Given the description of an element on the screen output the (x, y) to click on. 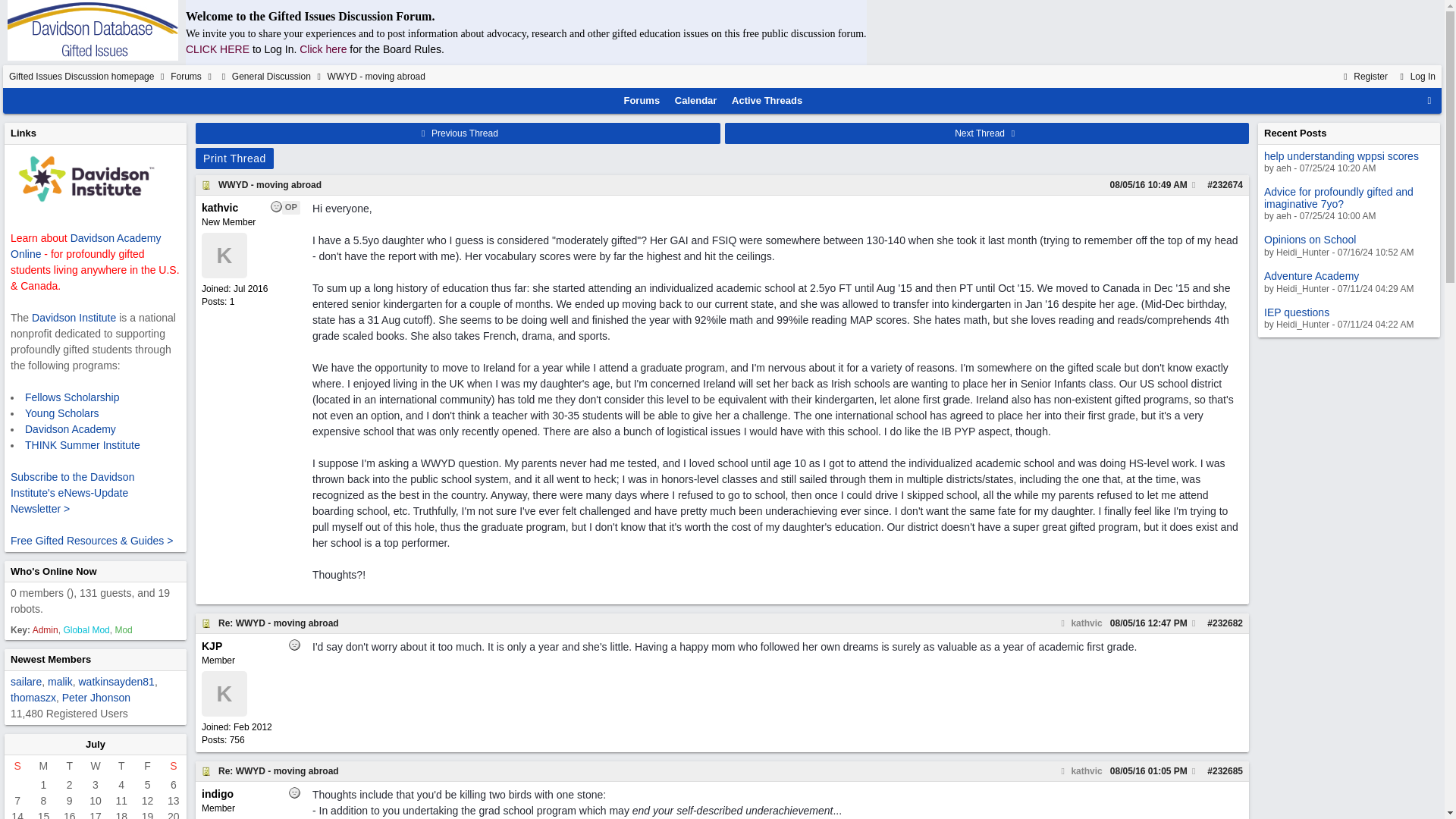
General Discussion (271, 76)
Forums (641, 100)
Davidson Institute (74, 317)
WWYD - moving abroad (269, 184)
CLICK HERE (217, 49)
Young Scholars (61, 413)
232674 (1227, 184)
sailare (26, 681)
Forums (186, 76)
watkinsayden81 (116, 681)
Gifted Issues Discussion homepage (81, 76)
Register (1363, 76)
Davidson Academy (70, 428)
malik (60, 681)
Fellows Scholarship (71, 397)
